Given the description of an element on the screen output the (x, y) to click on. 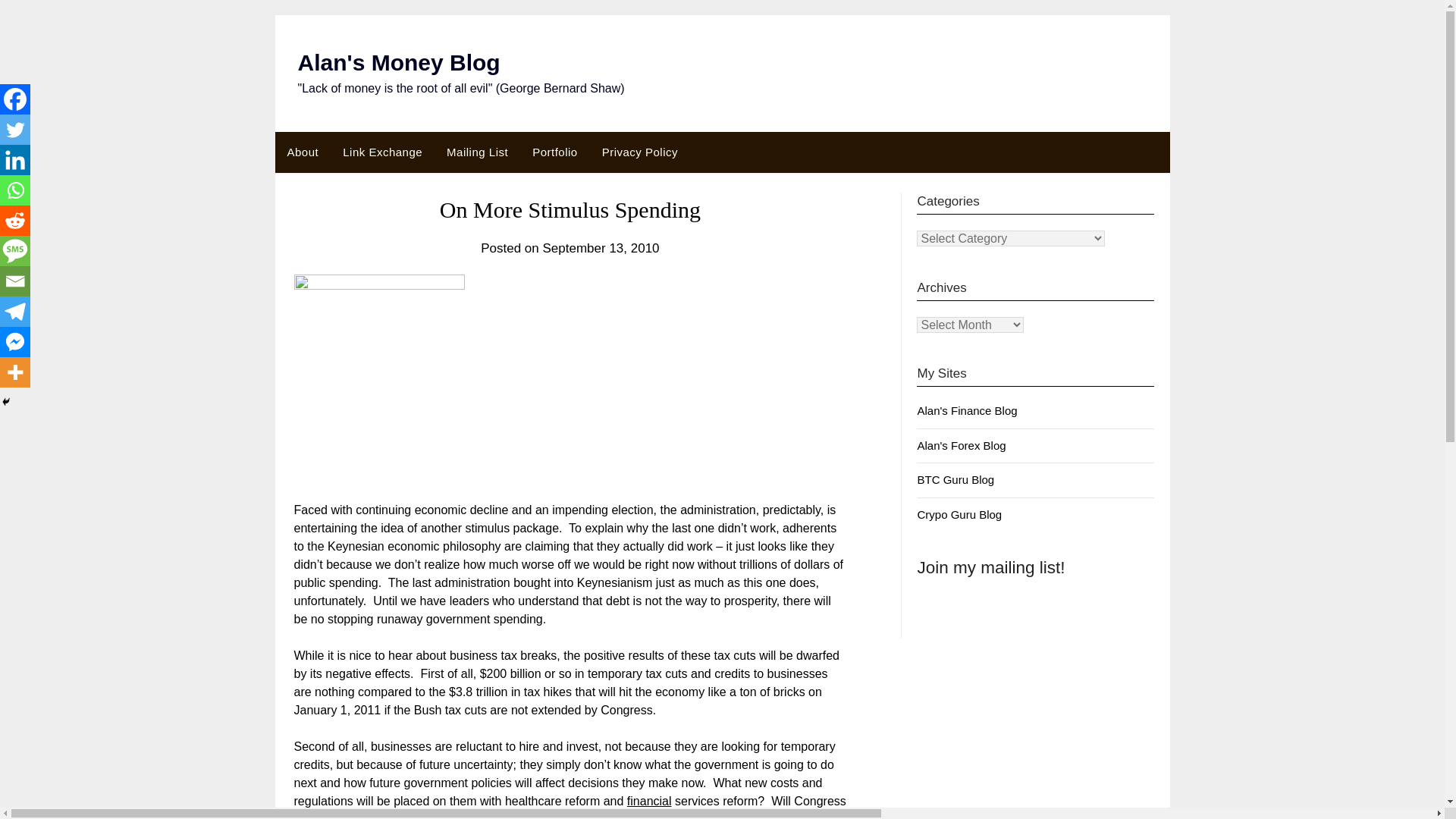
Alan's Forex Blog (961, 445)
About (302, 151)
Twitter (15, 129)
Portfolio (554, 151)
Mailing List (476, 151)
Reddit (15, 220)
Whatsapp (15, 190)
Link Exchange (381, 151)
Crypo Guru Blog (959, 513)
Privacy Policy (639, 151)
financial (649, 800)
BTC Guru Blog (955, 479)
Alan's Money Blog (398, 62)
Alan's Finance Blog (966, 410)
Linkedin (15, 159)
